Given the description of an element on the screen output the (x, y) to click on. 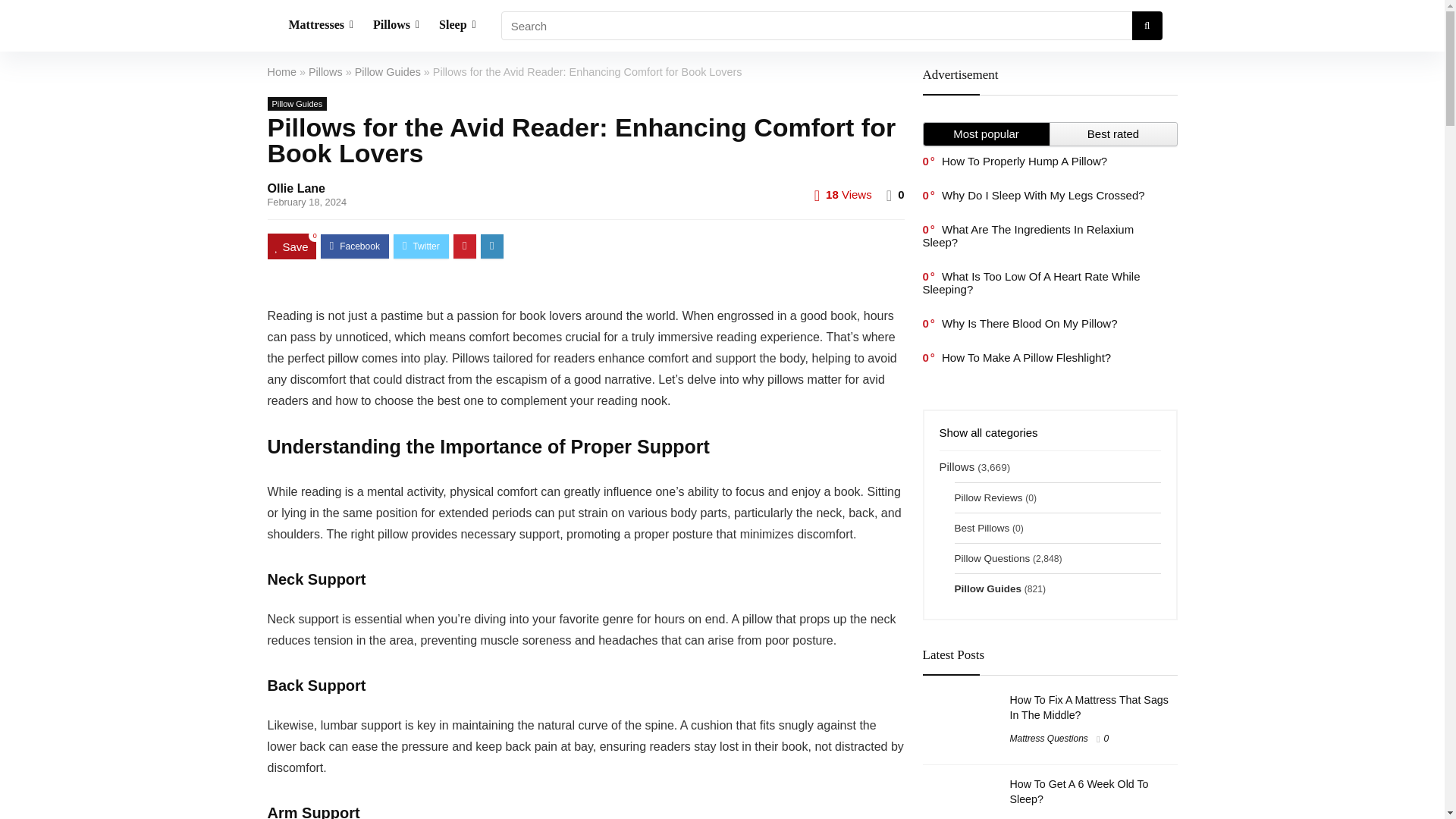
Pillows (325, 71)
Pillows (395, 25)
View all posts in Pillow Guides (296, 103)
Pillow Guides (296, 103)
Home (280, 71)
Mattresses (321, 25)
Ollie Lane (295, 187)
Sleep (457, 25)
Pillow Guides (387, 71)
